Given the description of an element on the screen output the (x, y) to click on. 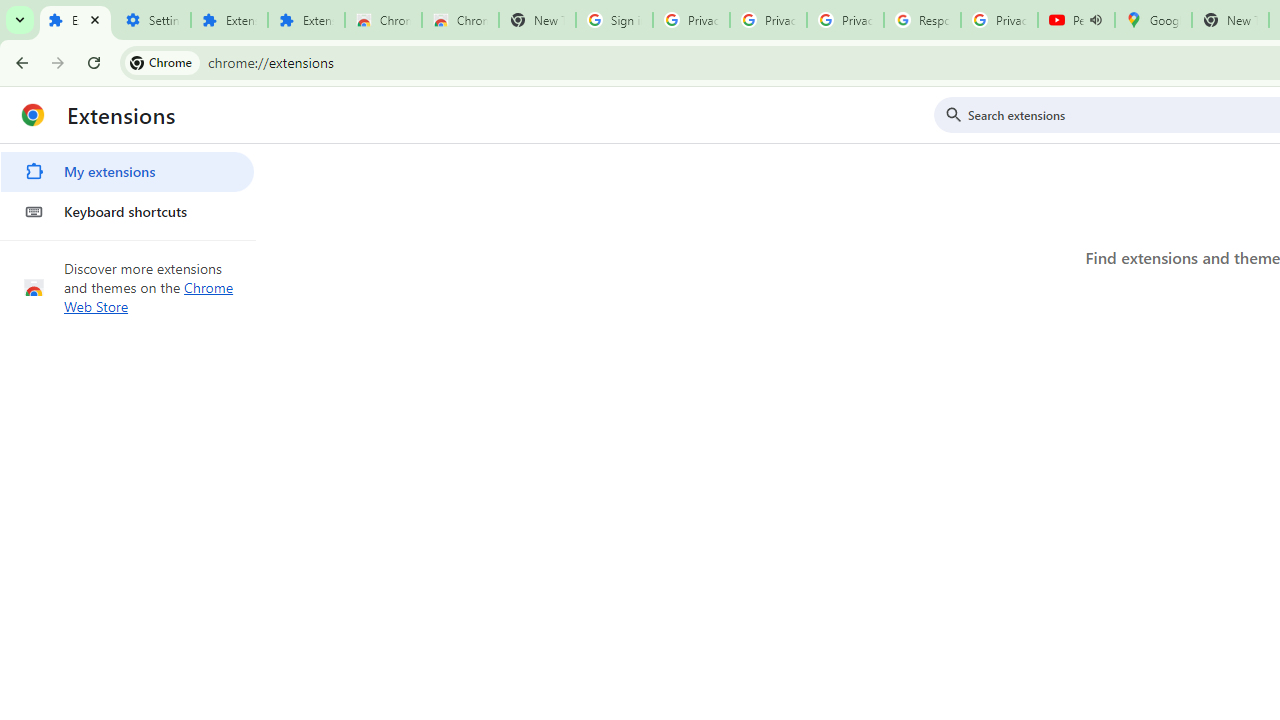
Extensions (228, 20)
New Tab (1229, 20)
Mute tab (1095, 20)
Chrome Web Store (149, 296)
My extensions (127, 171)
Google Maps (1152, 20)
Extensions (75, 20)
New Tab (537, 20)
Keyboard shortcuts (127, 211)
